Given the description of an element on the screen output the (x, y) to click on. 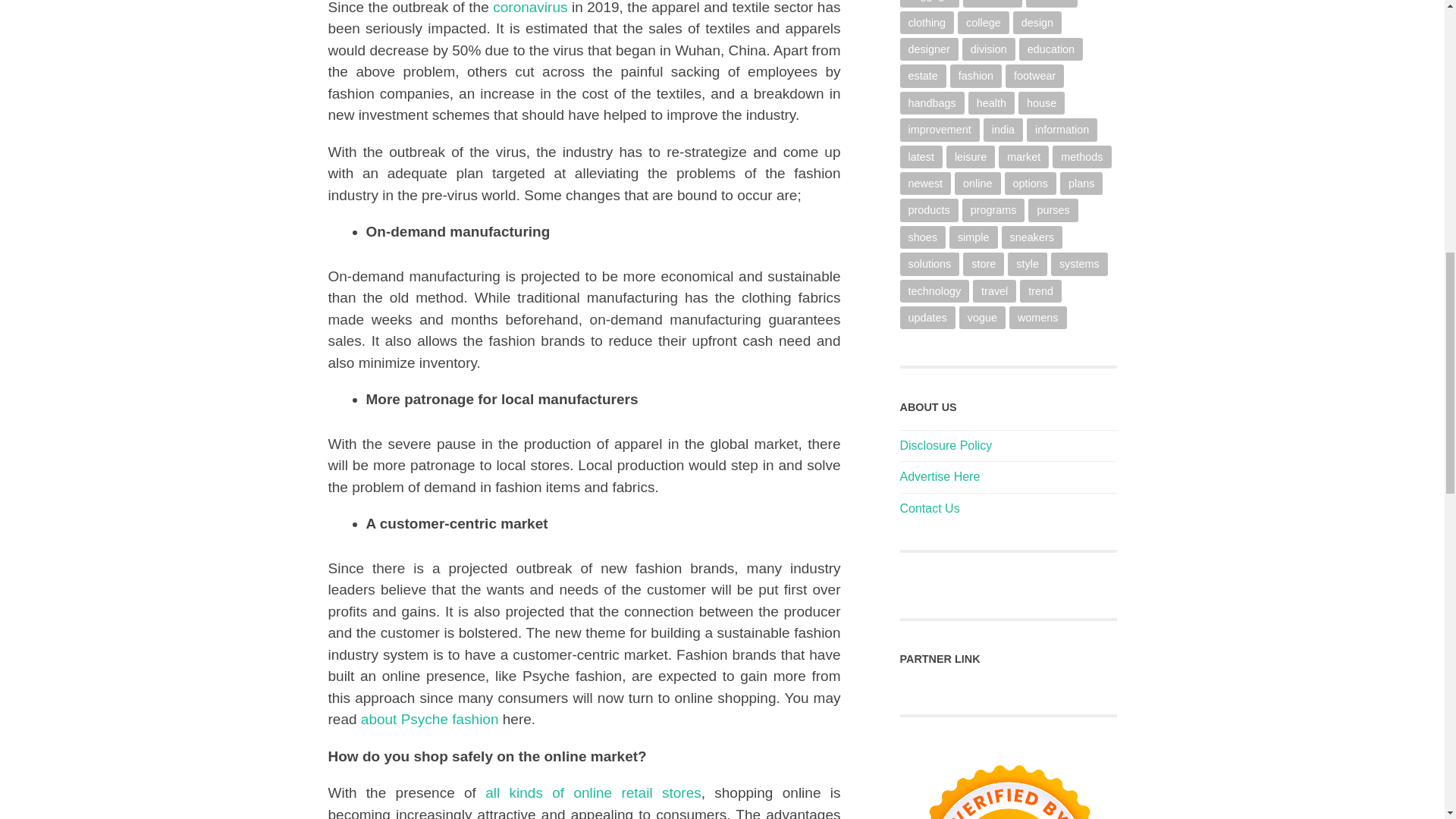
Seedbacklink (1007, 784)
clothes (1051, 3)
baggage (928, 3)
college (983, 22)
coronavirus (528, 7)
business (992, 3)
clothing (926, 22)
all kinds of online retail stores (588, 792)
about Psyche fashion (427, 719)
